Given the description of an element on the screen output the (x, y) to click on. 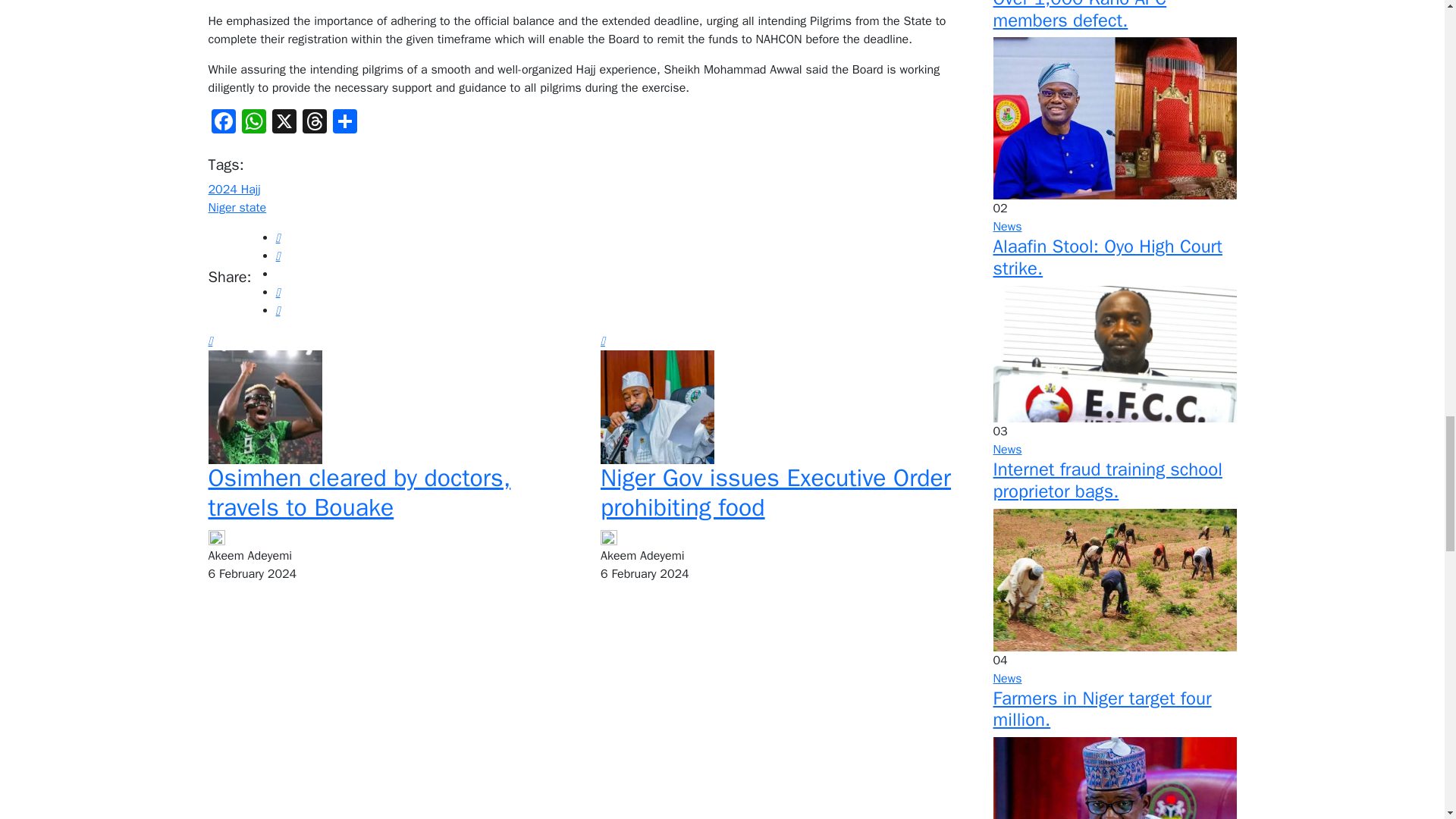
Threads (313, 123)
Facebook (223, 123)
WhatsApp (252, 123)
X (282, 123)
